Given the description of an element on the screen output the (x, y) to click on. 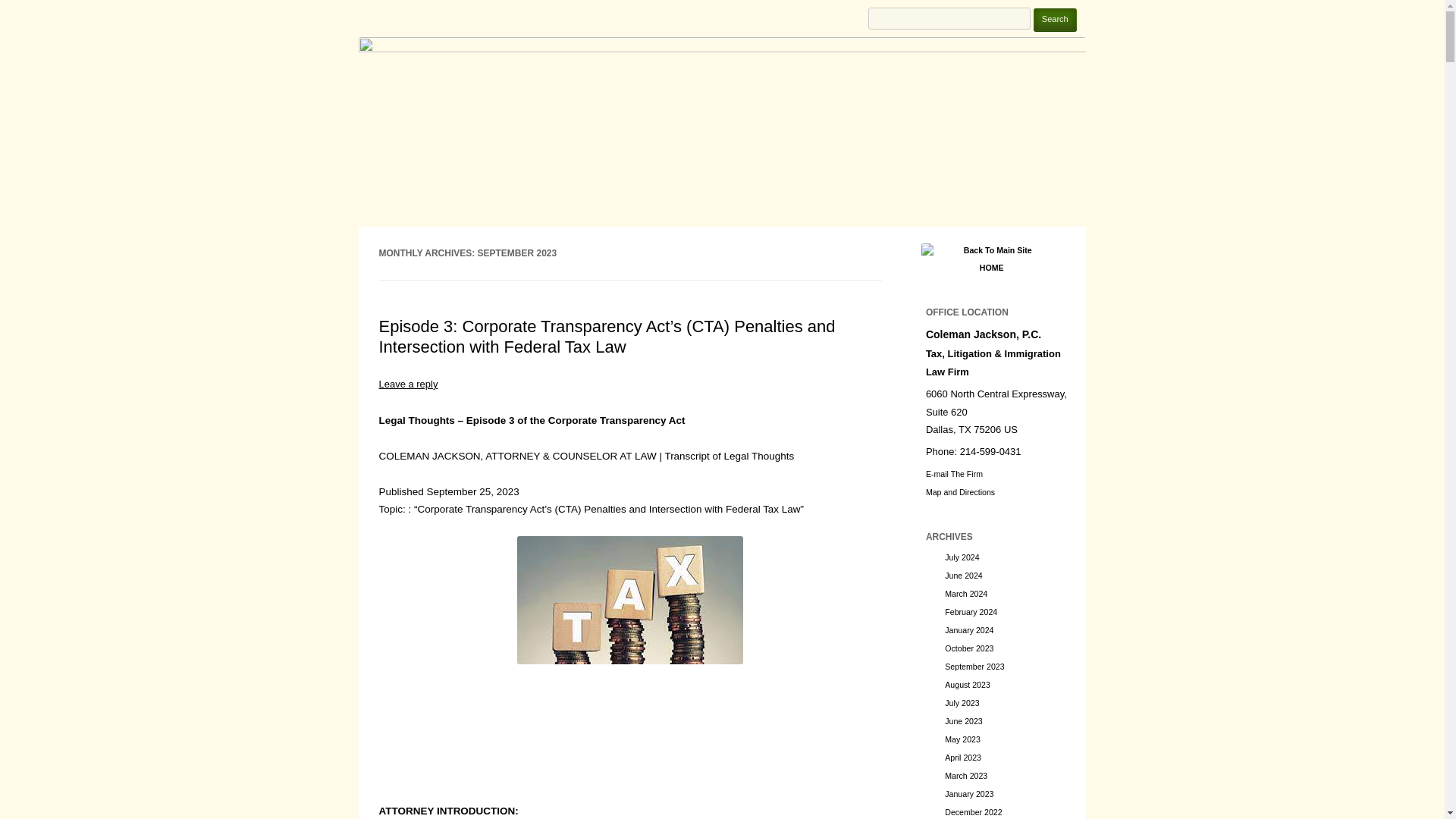
January 2024 (968, 629)
Tax, Litigation, Immigration Law Blog (532, 18)
Leave a reply (408, 383)
July 2024 (961, 556)
Skip to content (755, 231)
HOME (991, 257)
Map and Directions (960, 491)
Tax, Litigation, Immigration Law Blog (532, 18)
Search (1055, 19)
Skip to content (755, 231)
Search (1055, 19)
E-mail The Firm (954, 473)
July 2023 (961, 702)
March 2024 (965, 593)
August 2023 (967, 684)
